Given the description of an element on the screen output the (x, y) to click on. 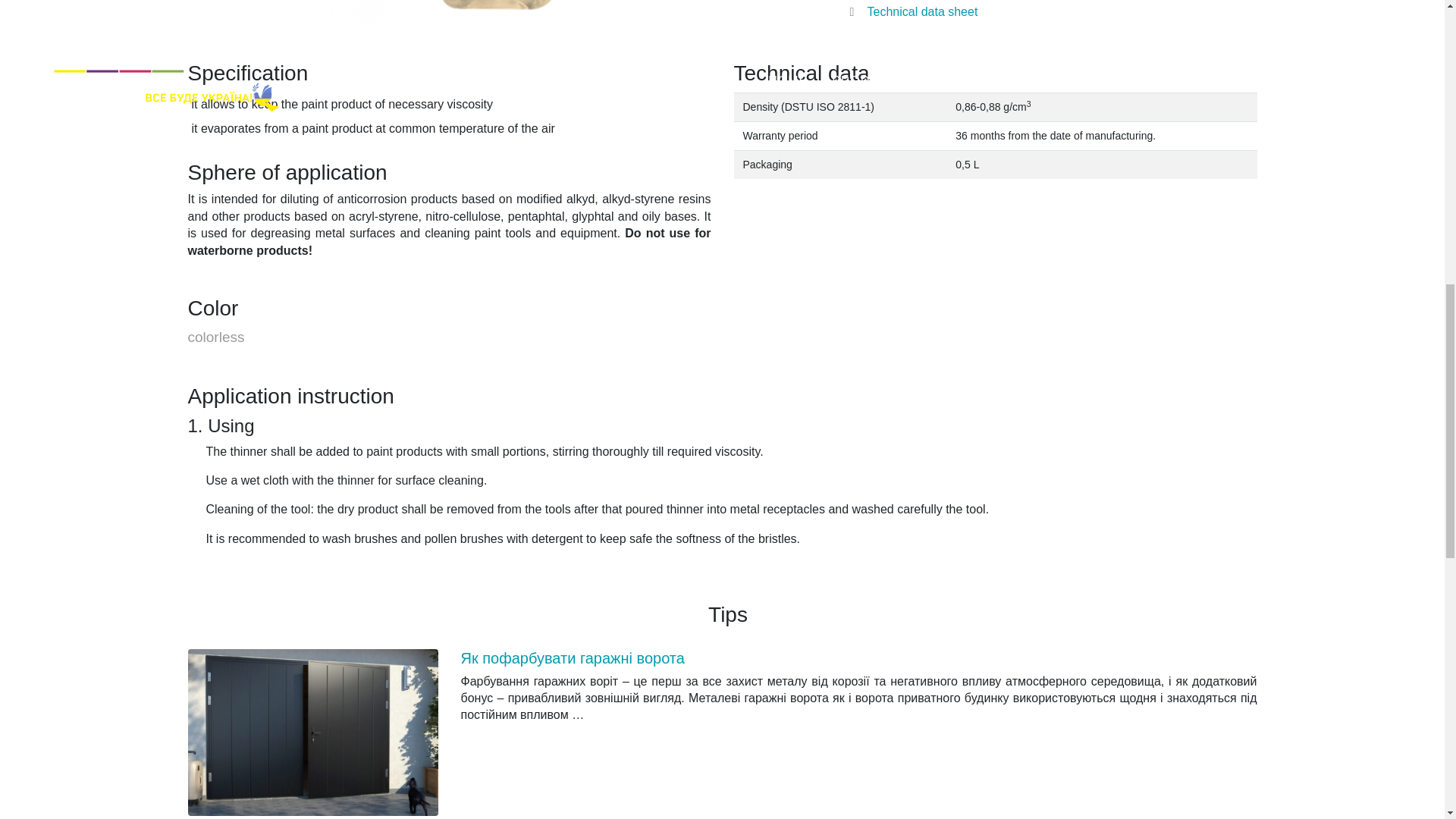
Technical data sheet (908, 11)
